Given the description of an element on the screen output the (x, y) to click on. 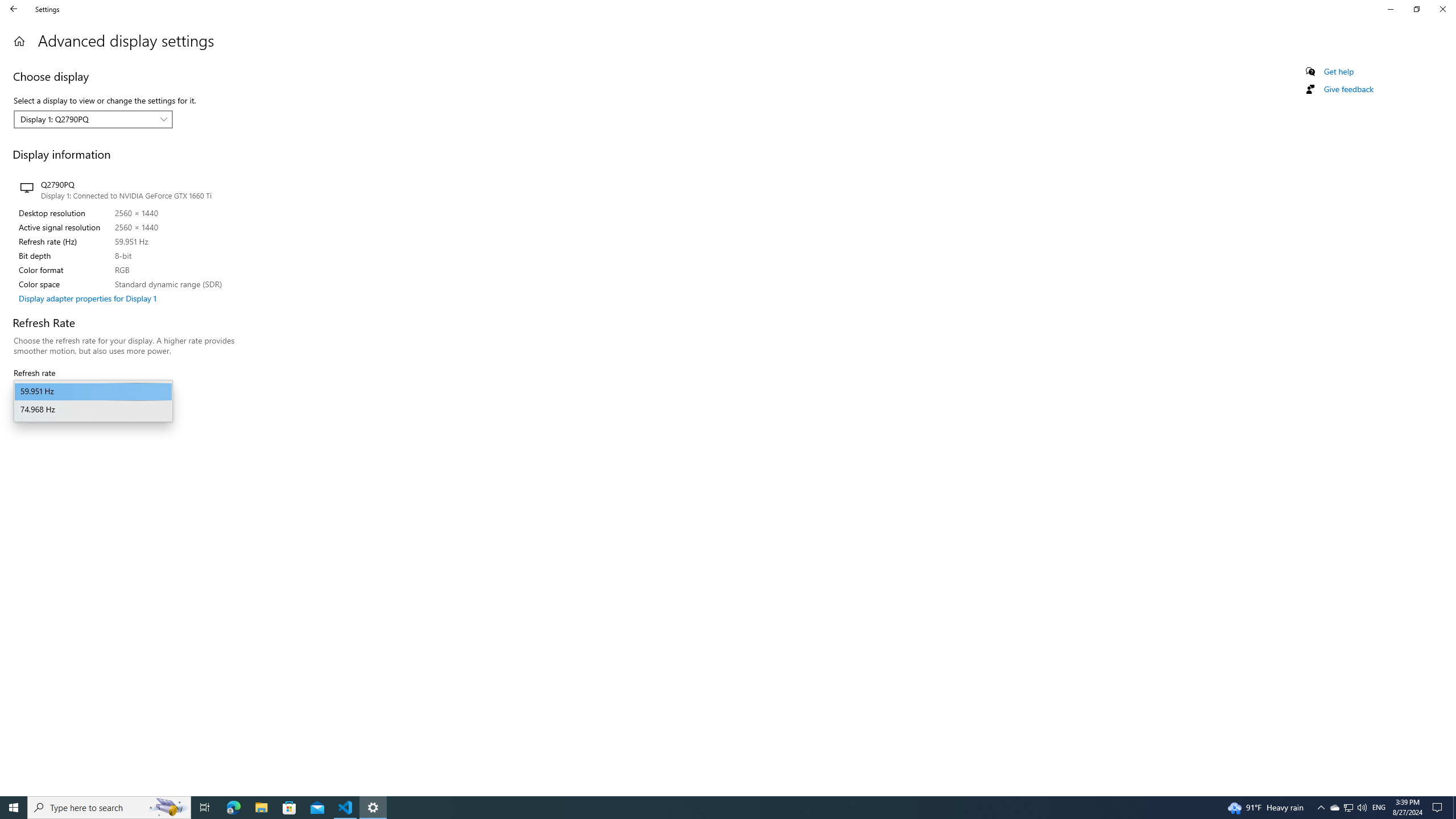
Minimize Settings (1390, 9)
Q2790: 100% (1361, 807)
59.951 Hz (92, 391)
Settings - 1 running window (373, 807)
Back (13, 9)
